Given the description of an element on the screen output the (x, y) to click on. 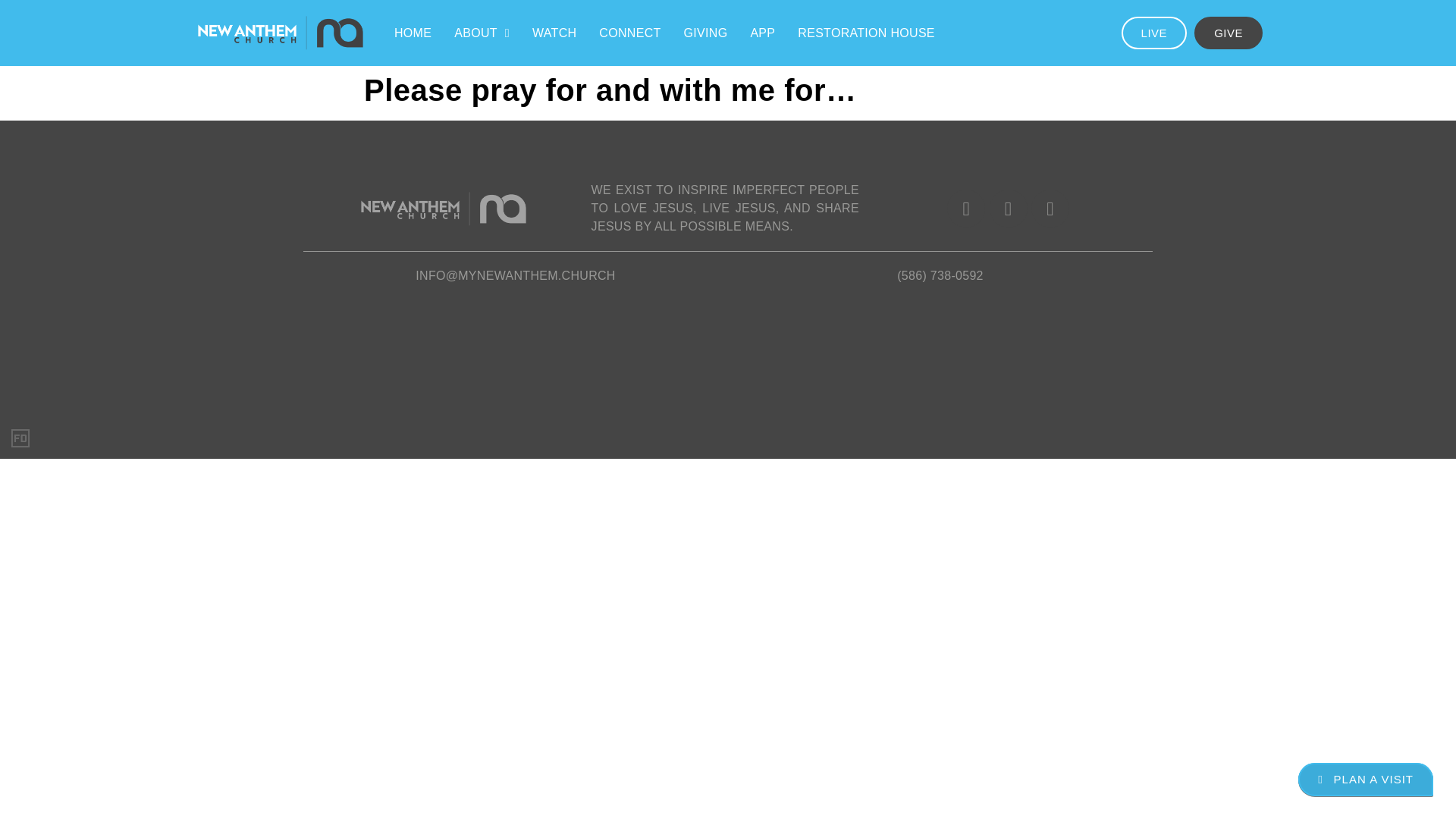
CONNECT (629, 32)
LIVE (1154, 32)
GIVE (1227, 32)
WATCH (554, 32)
RESTORATION HOUSE (865, 32)
ABOUT (481, 32)
HOME (412, 32)
APP (761, 32)
GIVING (706, 32)
